Given the description of an element on the screen output the (x, y) to click on. 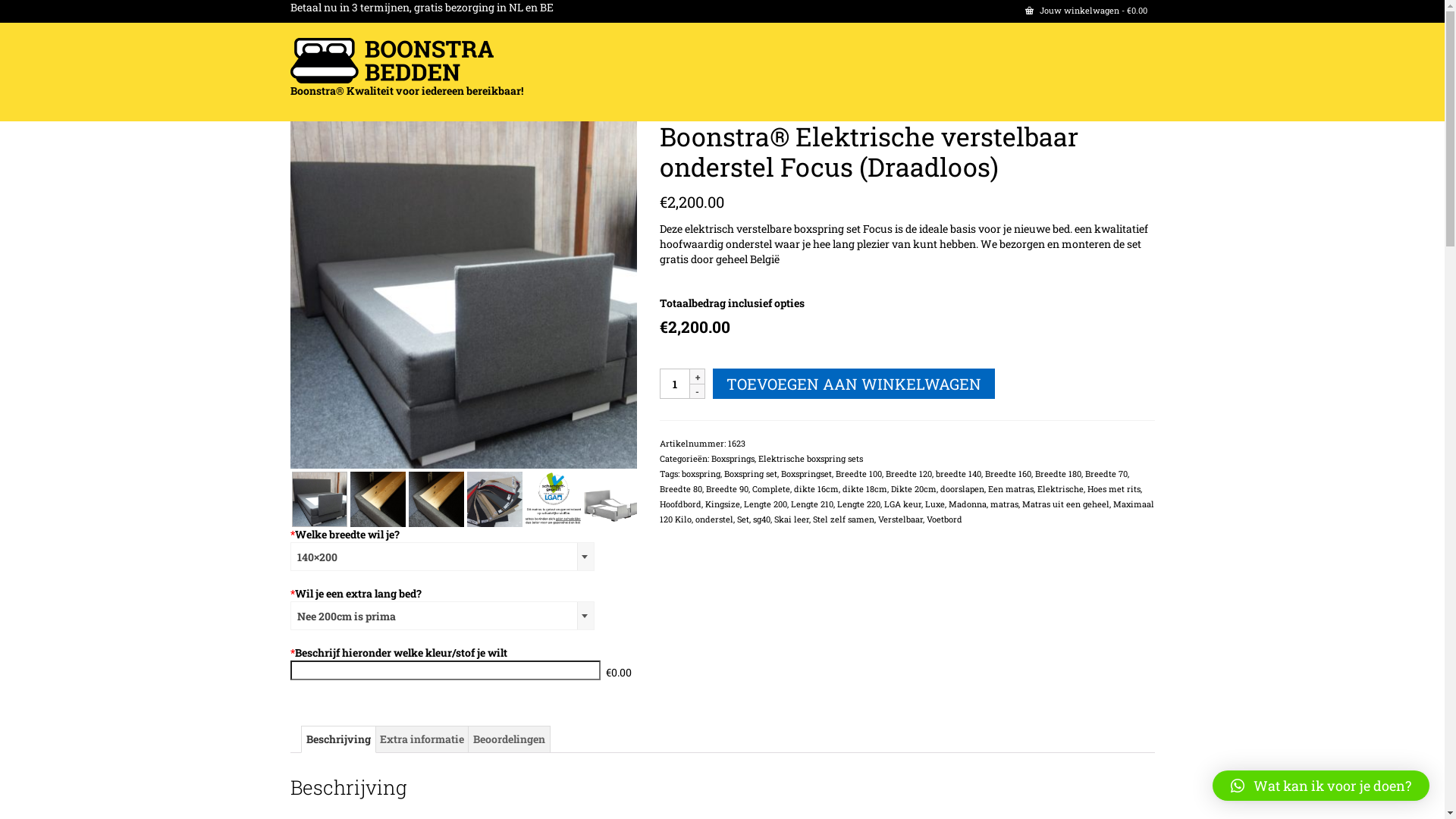
Boxspringset Element type: text (806, 473)
Dikte 20cm Element type: text (913, 488)
Boxsprings Element type: text (732, 458)
LGA keur Element type: text (902, 503)
Elektrische boxspring sets Element type: text (810, 458)
Skai leer Element type: text (791, 518)
dikte 18cm Element type: text (864, 488)
Breedte 70 Element type: text (1106, 473)
dikte 16cm Element type: text (815, 488)
sg40 Element type: text (761, 518)
TOEVOEGEN AAN WINKELWAGEN Element type: text (853, 383)
Breedte 120 Element type: text (908, 473)
Madonna Element type: text (967, 503)
Beoordelingen Element type: text (509, 739)
Stel zelf samen Element type: text (843, 518)
Luxe Element type: text (934, 503)
Voetbord Element type: text (944, 518)
Een matras Element type: text (1010, 488)
Complete Element type: text (771, 488)
Hoes met rits Element type: text (1113, 488)
Maximaal 120 Kilo Element type: text (906, 511)
Extra informatie Element type: text (421, 739)
Set Element type: text (743, 518)
onderstel Element type: text (714, 518)
Matras uit een geheel Element type: text (1065, 503)
Lengte 200 Element type: text (765, 503)
boxspring Element type: text (700, 473)
Elektrische Element type: text (1060, 488)
Kingsize Element type: text (722, 503)
Breedte 80 Element type: text (680, 488)
Beschrijving Element type: text (338, 739)
DSC04525 Element type: hover (463, 294)
Breedte 90 Element type: text (727, 488)
Lengte 210 Element type: text (811, 503)
matras Element type: text (1004, 503)
Hoofdbord Element type: text (680, 503)
Boxspring set Element type: text (750, 473)
Breedte 160 Element type: text (1008, 473)
Verstelbaar Element type: text (900, 518)
Lengte 220 Element type: text (858, 503)
Wat kan ik voor je doen? Element type: text (1320, 785)
Breedte 180 Element type: text (1058, 473)
doorslapen Element type: text (962, 488)
breedte 140 Element type: text (958, 473)
Breedte 100 Element type: text (858, 473)
